Given the description of an element on the screen output the (x, y) to click on. 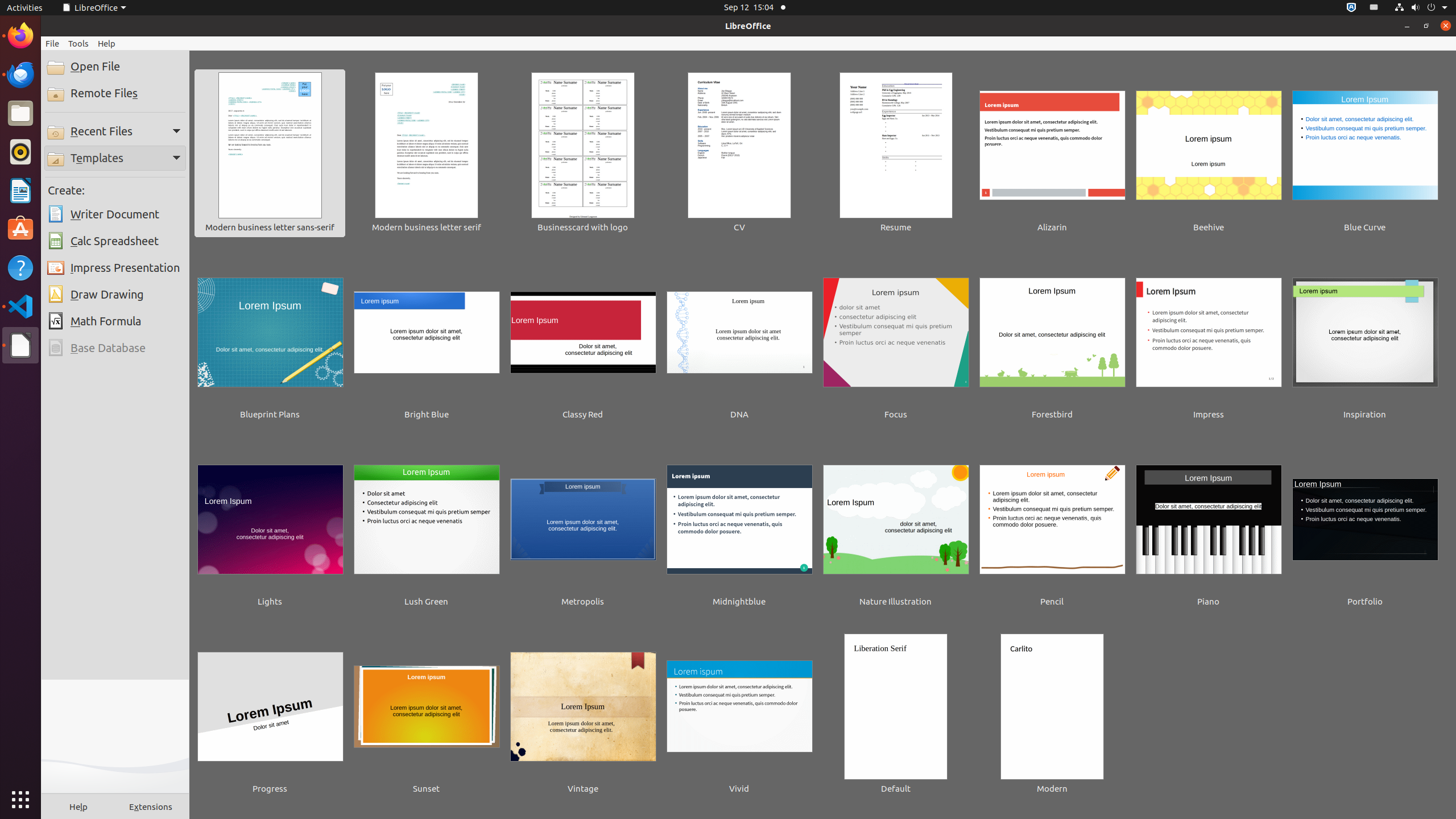
Midnightblue Element type: list-item (739, 527)
